Given the description of an element on the screen output the (x, y) to click on. 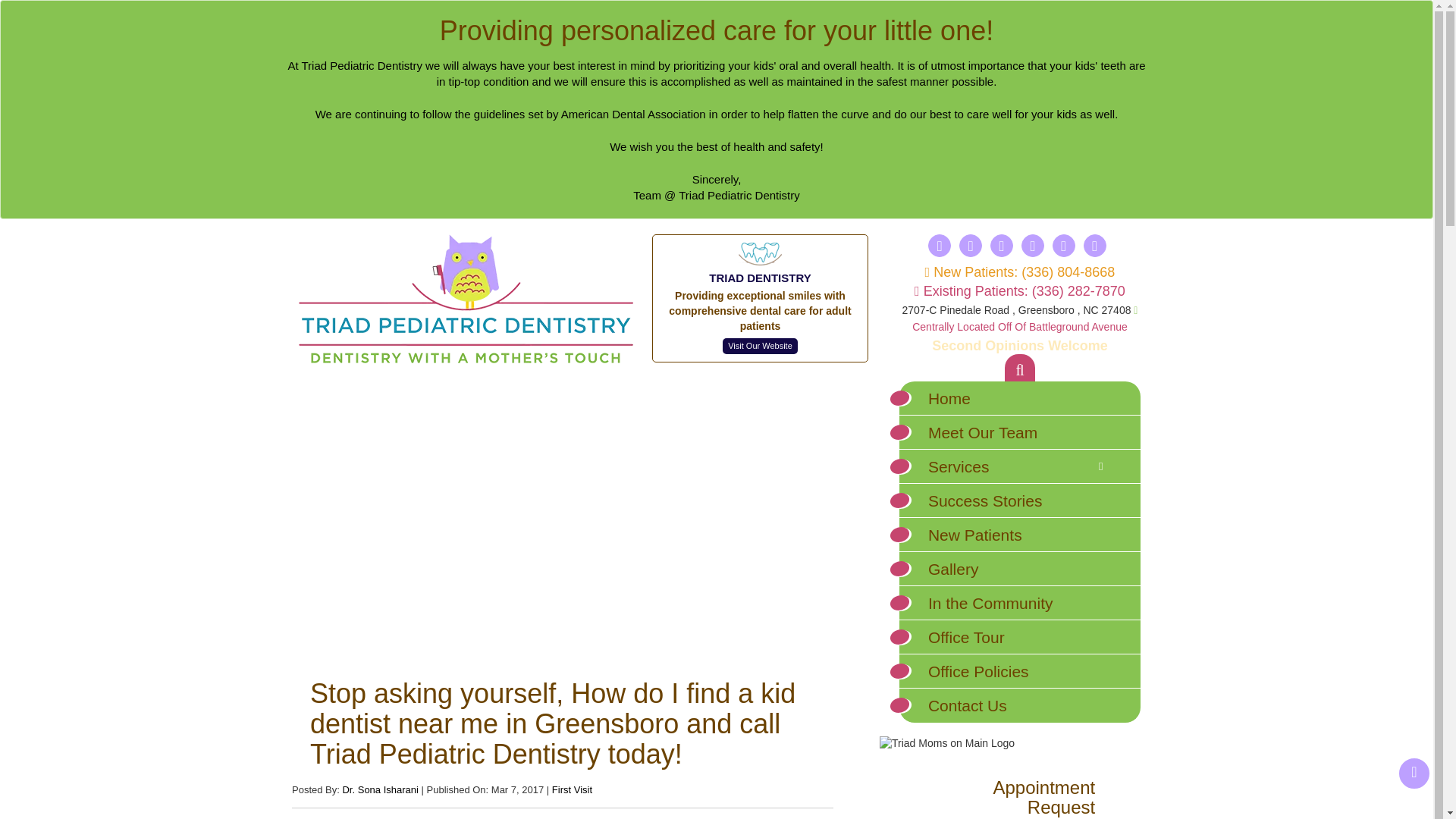
Office Tour (1019, 636)
Success Stories (1019, 500)
New Patients (1019, 534)
Home (1019, 398)
In the Community (1019, 602)
Office Policies (1019, 671)
Gallery (1019, 569)
Services (1019, 466)
Meet Our Team (1019, 432)
Contact Us (1019, 705)
Visit Our Website (759, 345)
